Given the description of an element on the screen output the (x, y) to click on. 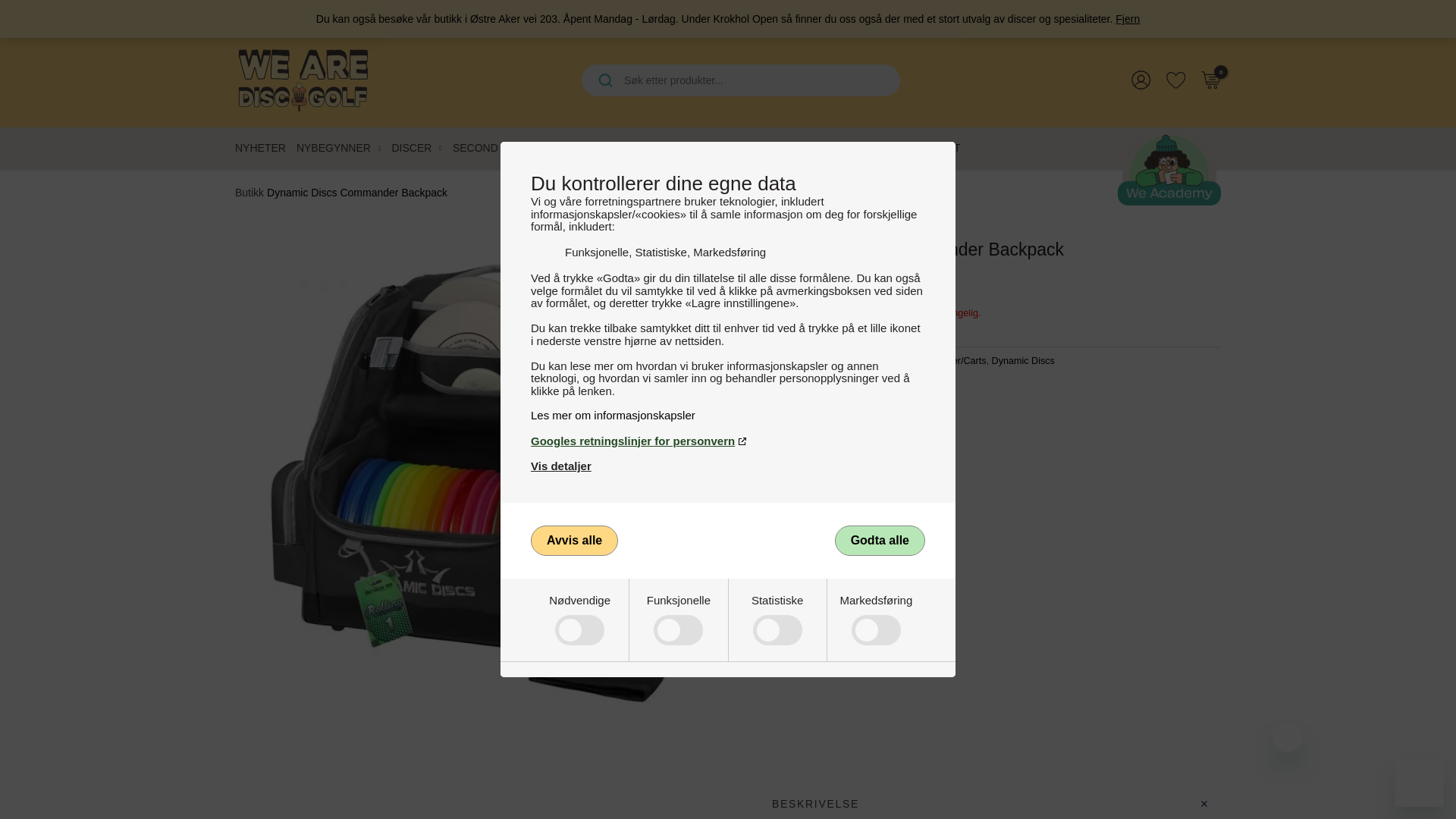
Googles retningslinjer for personvern (727, 440)
Avvis alle (574, 540)
Godta alle (879, 540)
Les mer om informasjonskapsler (727, 414)
Vis detaljer (561, 465)
